Given the description of an element on the screen output the (x, y) to click on. 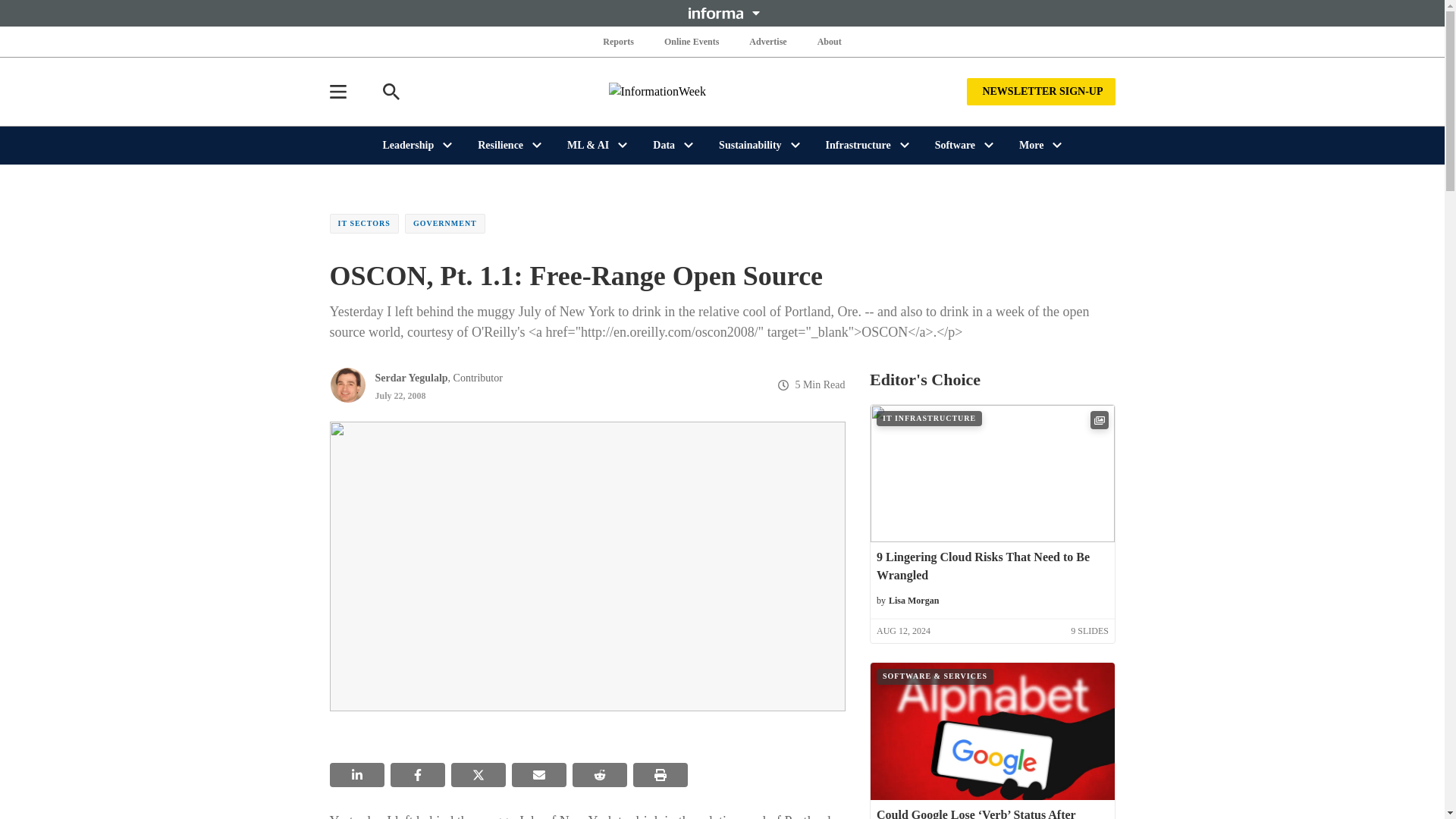
Advertise (767, 41)
Online Events (691, 41)
Reports (618, 41)
About (828, 41)
NEWSLETTER SIGN-UP (1040, 90)
InformationWeek (721, 91)
